Given the description of an element on the screen output the (x, y) to click on. 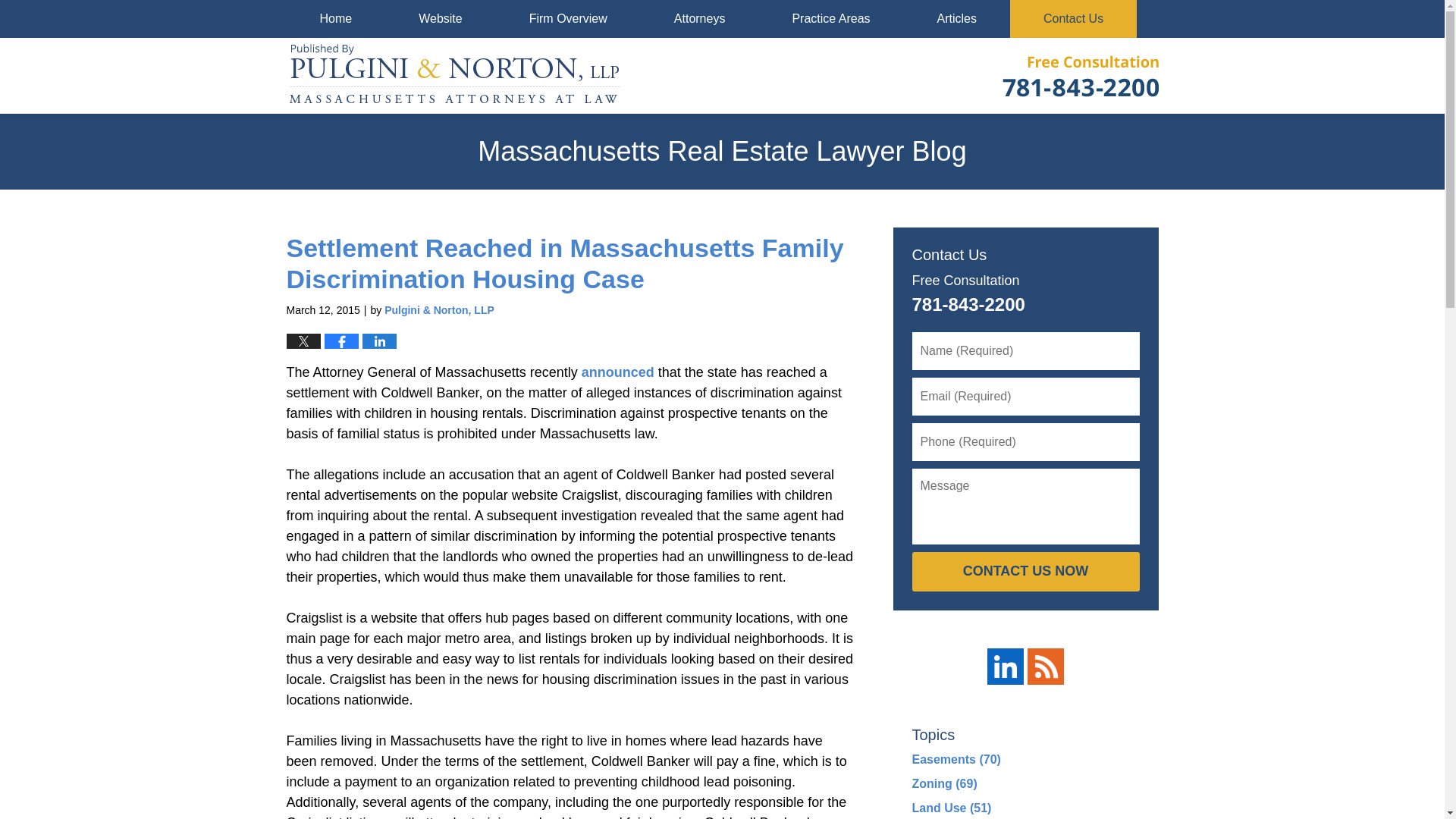
Feed (1045, 666)
Home (335, 18)
LinkedIn (1005, 666)
announced (616, 372)
Please enter a valid phone number. (1024, 442)
CONTACT US NOW (1024, 571)
AG Settlement Announcement (616, 372)
Massachusetts Real Estate Lawyer Blog (454, 75)
Contact Us (1073, 18)
Practice Areas (830, 18)
Website (440, 18)
Attorneys (699, 18)
Firm Overview (568, 18)
Articles (957, 18)
